Given the description of an element on the screen output the (x, y) to click on. 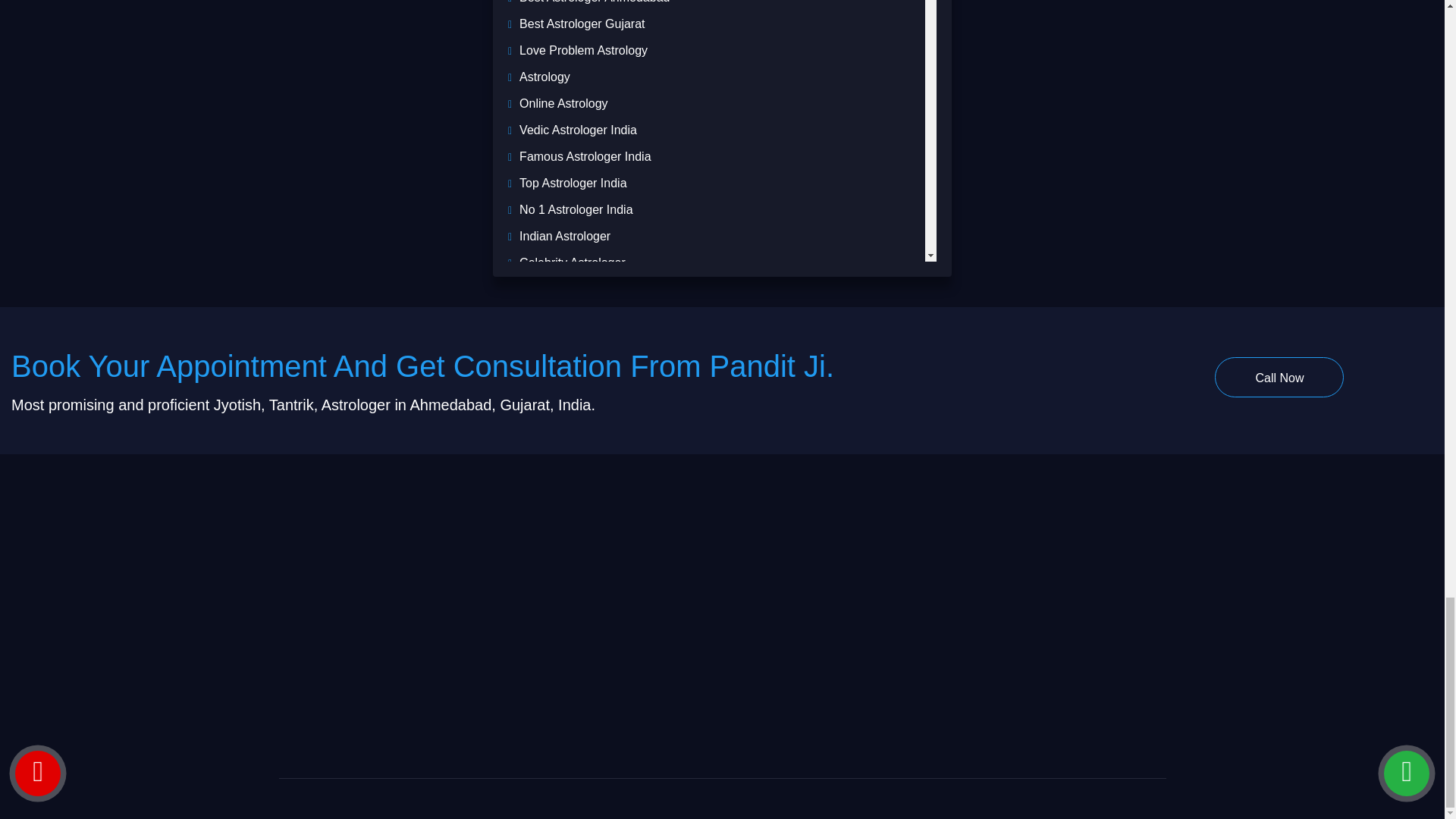
Best Astrologer Ahmedabad (594, 2)
Best Astrologer Gujarat (582, 23)
Love Problem Astrology (583, 50)
